Given the description of an element on the screen output the (x, y) to click on. 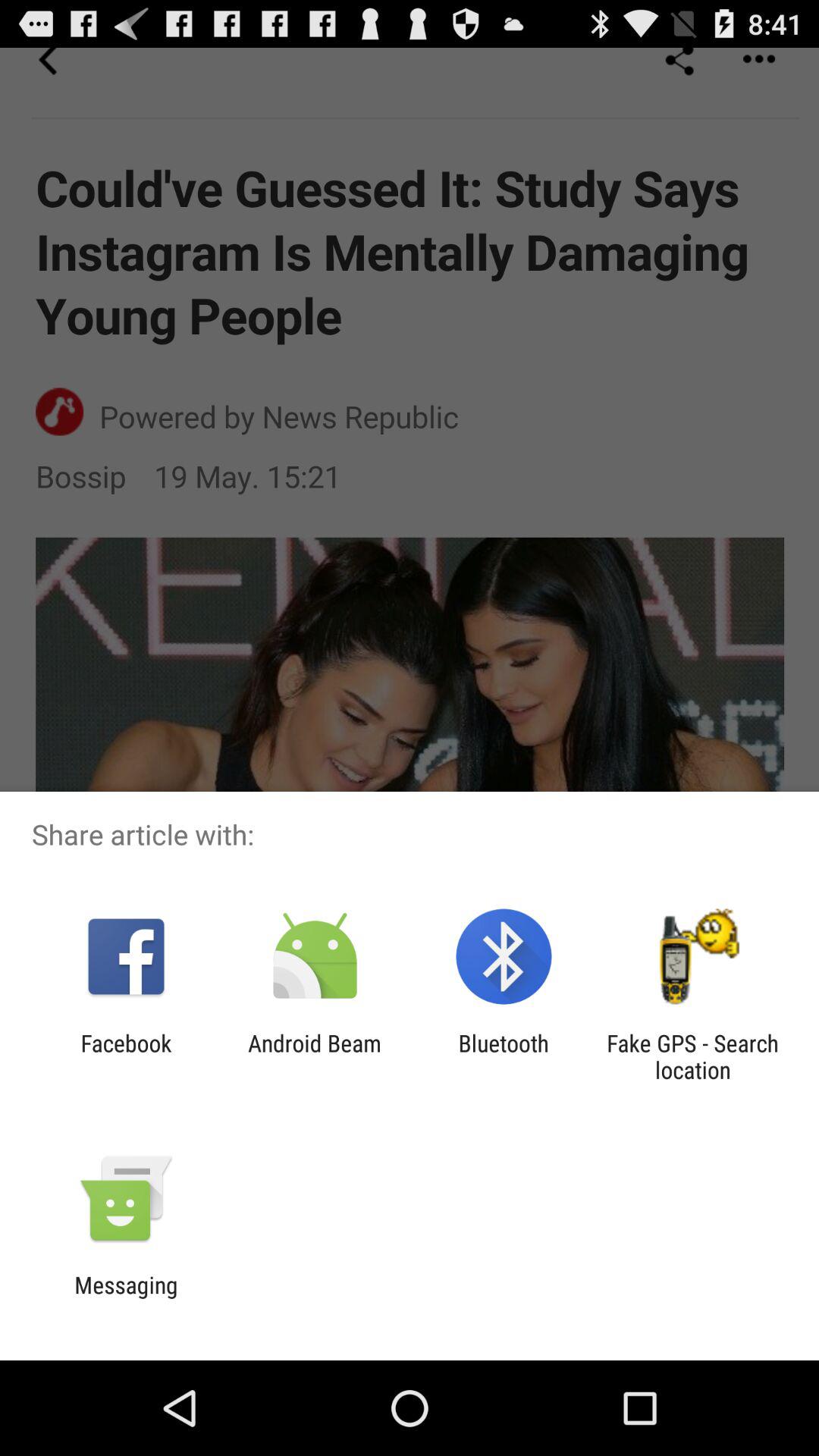
select the icon to the right of the android beam icon (503, 1056)
